Given the description of an element on the screen output the (x, y) to click on. 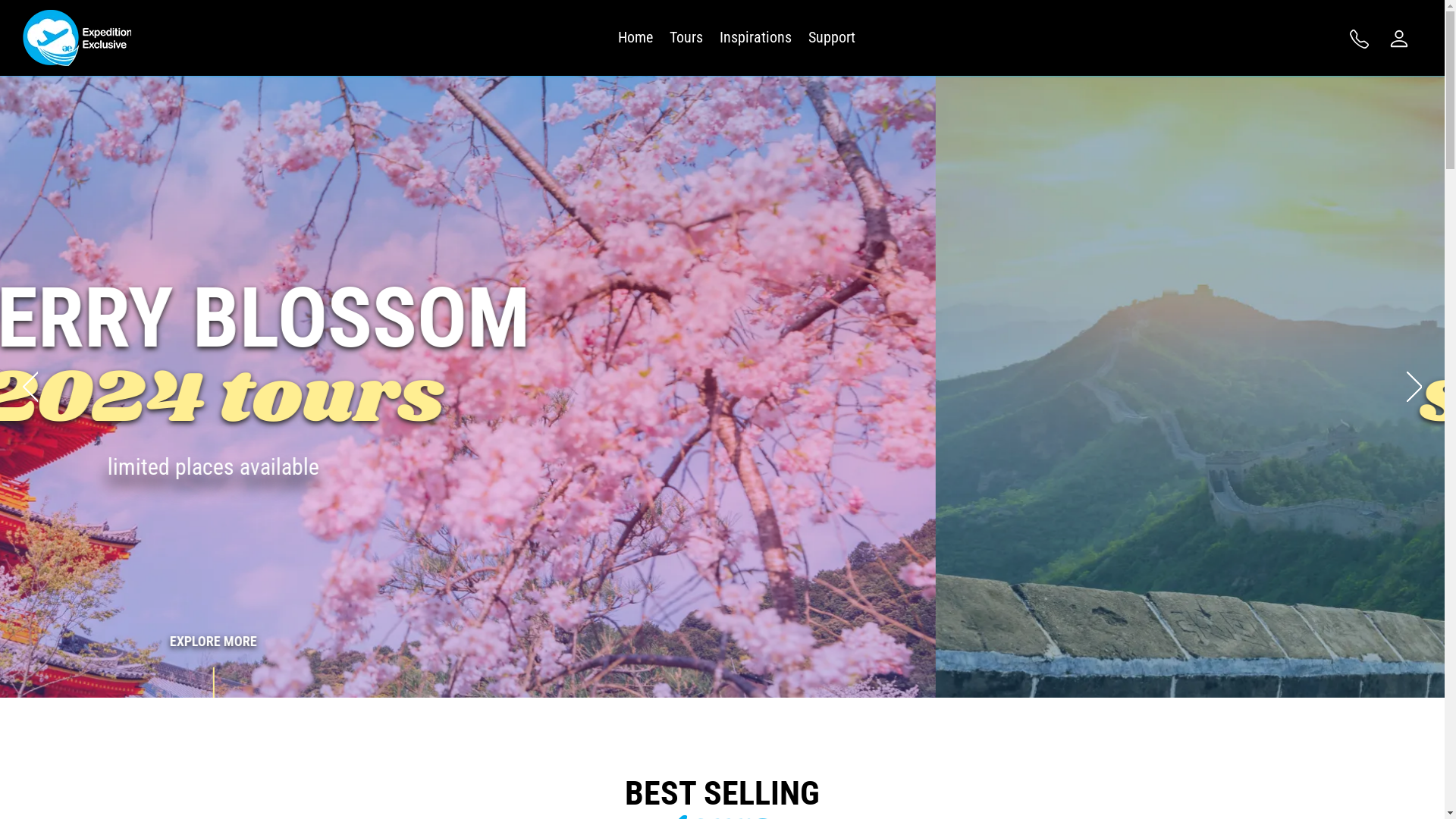
EXPLORE MORE Element type: text (721, 665)
Inspirations Element type: text (755, 37)
Support Element type: text (831, 37)
Previous Element type: text (29, 386)
Expedition Exclusive Element type: hover (76, 37)
Home Element type: text (635, 37)
Tours Element type: text (685, 37)
1300 738 196 Element type: text (1360, 37)
Next Element type: text (1413, 386)
Login Element type: text (1400, 37)
